Given the description of an element on the screen output the (x, y) to click on. 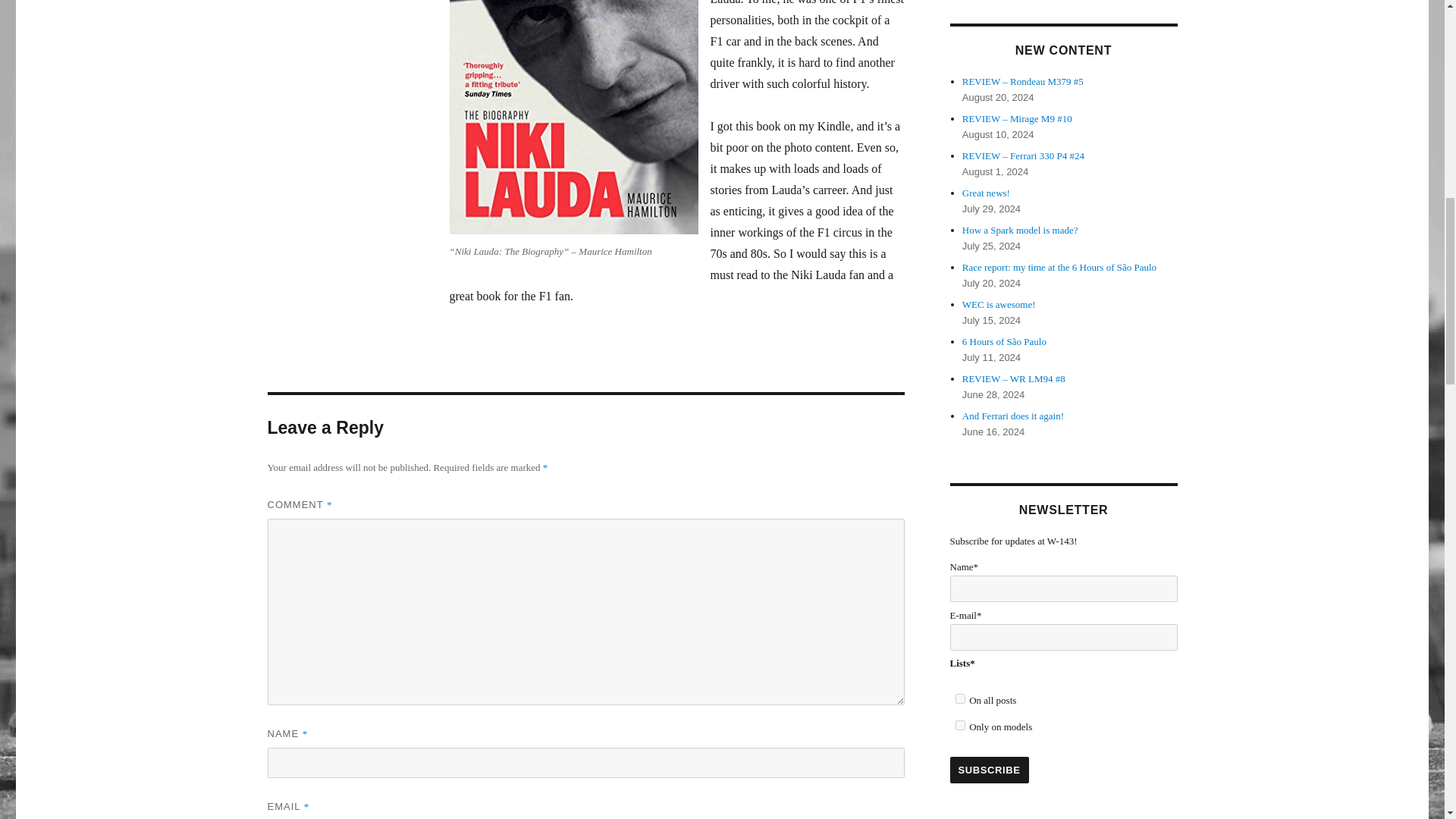
Subscribe (988, 769)
e205f22ddd70 (960, 725)
Subscribe (988, 769)
b9c4eeaf7ef5 (960, 698)
Great news! (986, 193)
WEC is awesome! (998, 304)
And Ferrari does it again! (1013, 415)
How a Spark model is made? (1020, 229)
